Given the description of an element on the screen output the (x, y) to click on. 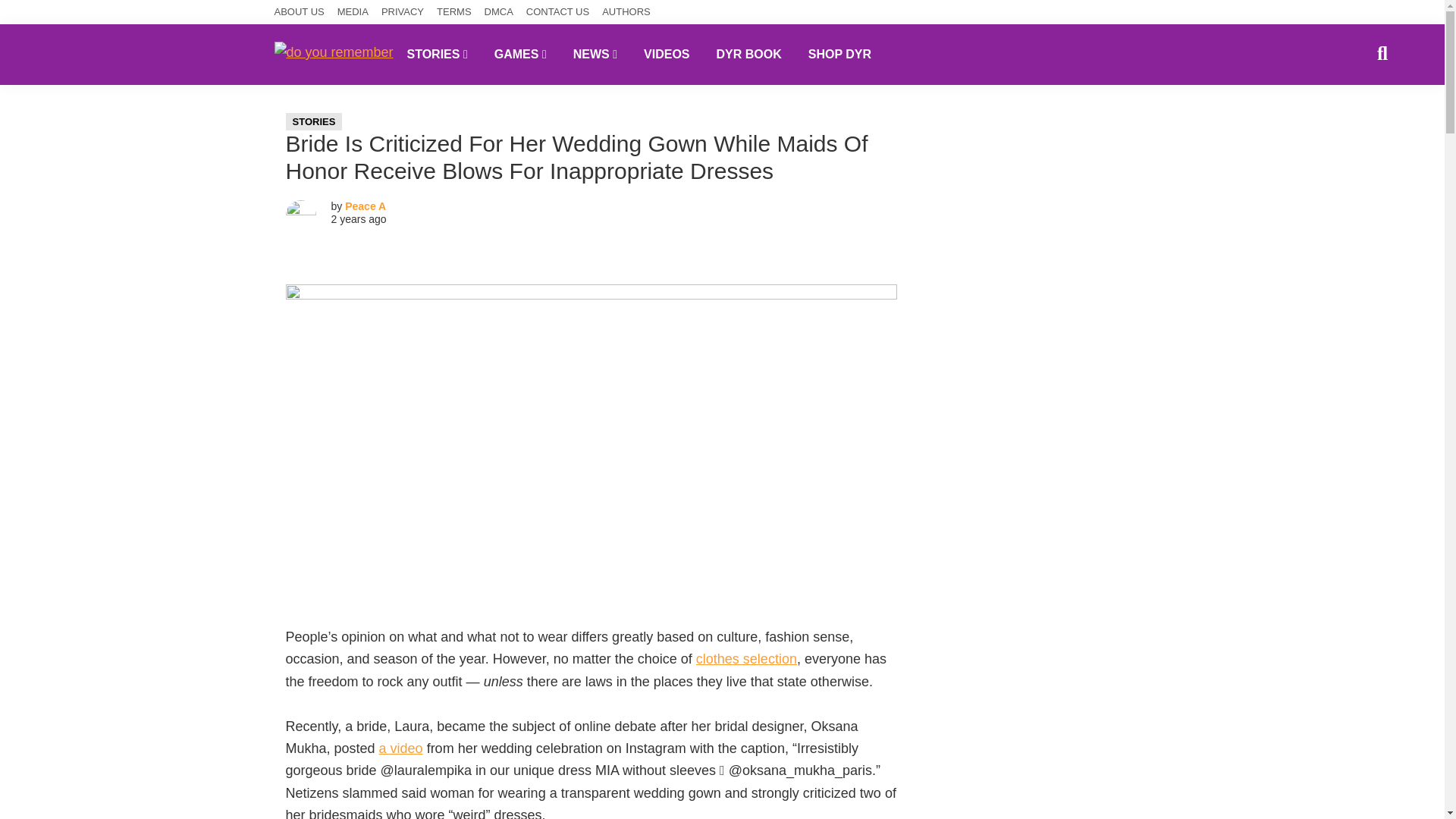
TERMS (453, 12)
AUTHORS (626, 12)
CONTACT US (557, 12)
DYR BOOK (748, 54)
STORIES (437, 54)
DMCA (498, 12)
SHOP DYR (839, 54)
STORIES (314, 121)
VIDEOS (665, 54)
Peace A (365, 205)
